Given the description of an element on the screen output the (x, y) to click on. 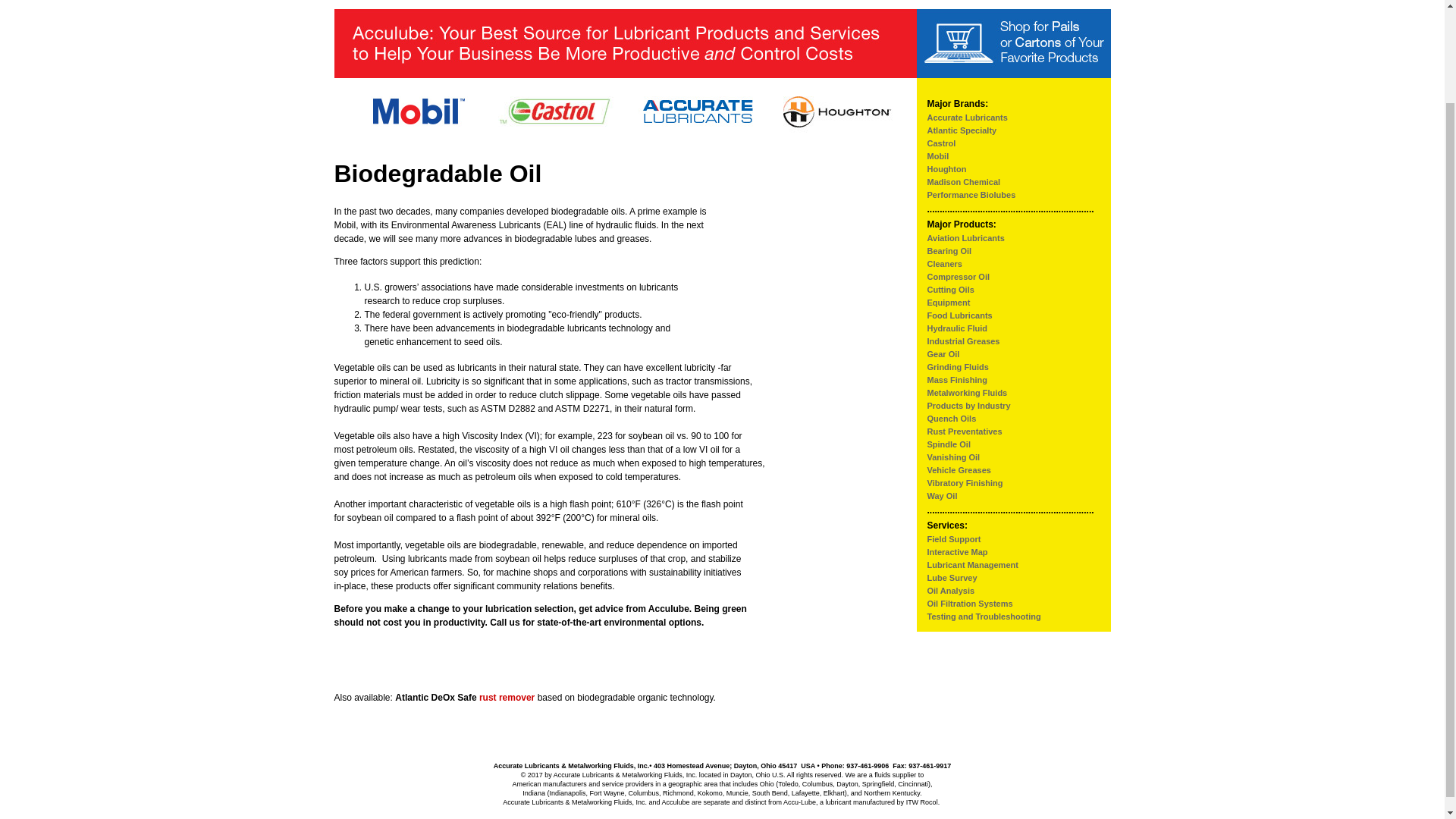
Cleaners (943, 263)
Compressor Oil (958, 276)
Grinding Fluids (957, 366)
Metalworking Fluids (966, 392)
Castrol (940, 143)
Madison Chemical (963, 181)
Mobil (937, 155)
Food Lubricants (958, 315)
Aviation Lubricants (965, 237)
Hydraulic Fluid (956, 327)
